Given the description of an element on the screen output the (x, y) to click on. 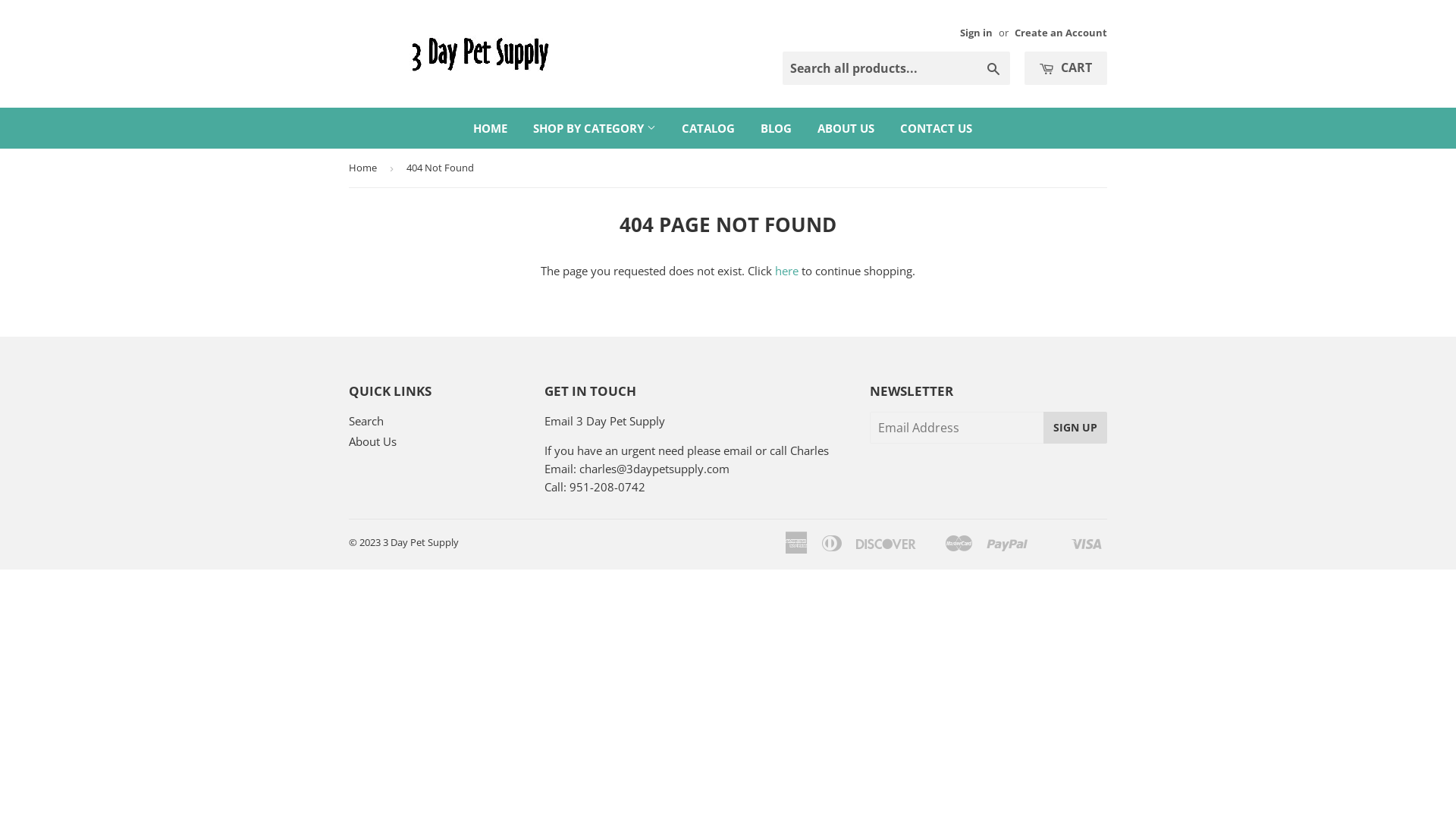
Sign in Element type: text (976, 32)
CART Element type: text (1065, 67)
BLOG Element type: text (776, 127)
Home Element type: text (365, 167)
here Element type: text (786, 270)
CATALOG Element type: text (708, 127)
About Us Element type: text (372, 440)
SIGN UP Element type: text (1075, 427)
CONTACT US Element type: text (935, 127)
Call: 951-208-0742 Element type: text (594, 486)
HOME Element type: text (489, 127)
Email 3 Day Pet Supply Element type: text (604, 420)
Search Element type: text (992, 68)
Email: charles@3daypetsupply.com Element type: text (636, 468)
Search Element type: text (365, 420)
ABOUT US Element type: text (844, 127)
3 Day Pet Supply Element type: text (420, 542)
Create an Account Element type: text (1060, 32)
SHOP BY CATEGORY Element type: text (594, 127)
